Given the description of an element on the screen output the (x, y) to click on. 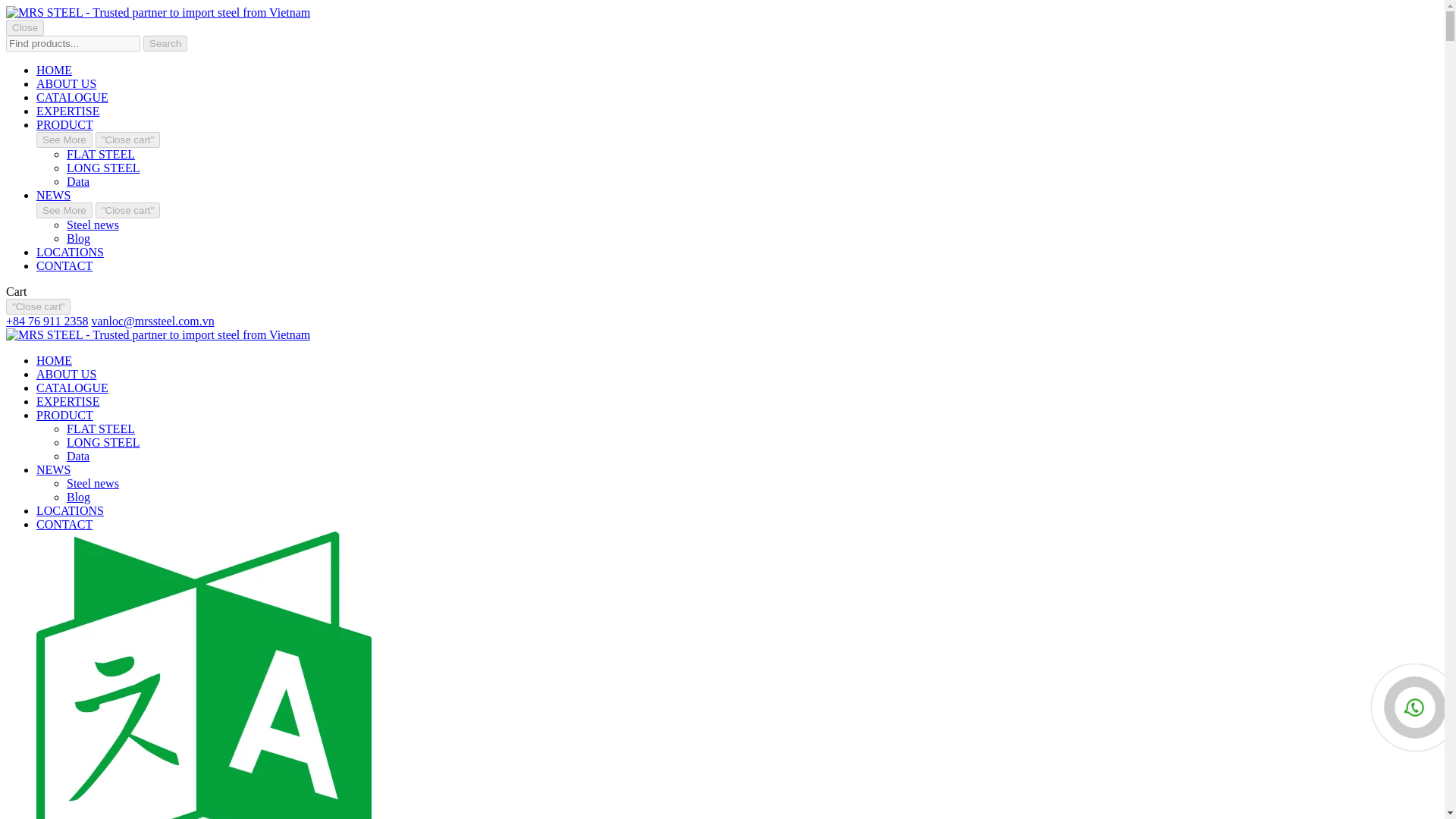
CATALOGUE (71, 97)
"Close cart" (37, 306)
Data (77, 181)
See More (64, 210)
ABOUT US (66, 373)
FLAT STEEL (100, 428)
See More (64, 139)
HOME (53, 359)
PRODUCT (64, 124)
ABOUT US (66, 83)
Search (164, 43)
Blog (78, 496)
"Close cart" (128, 210)
LOCATIONS (69, 510)
LOCATIONS (69, 251)
